Given the description of an element on the screen output the (x, y) to click on. 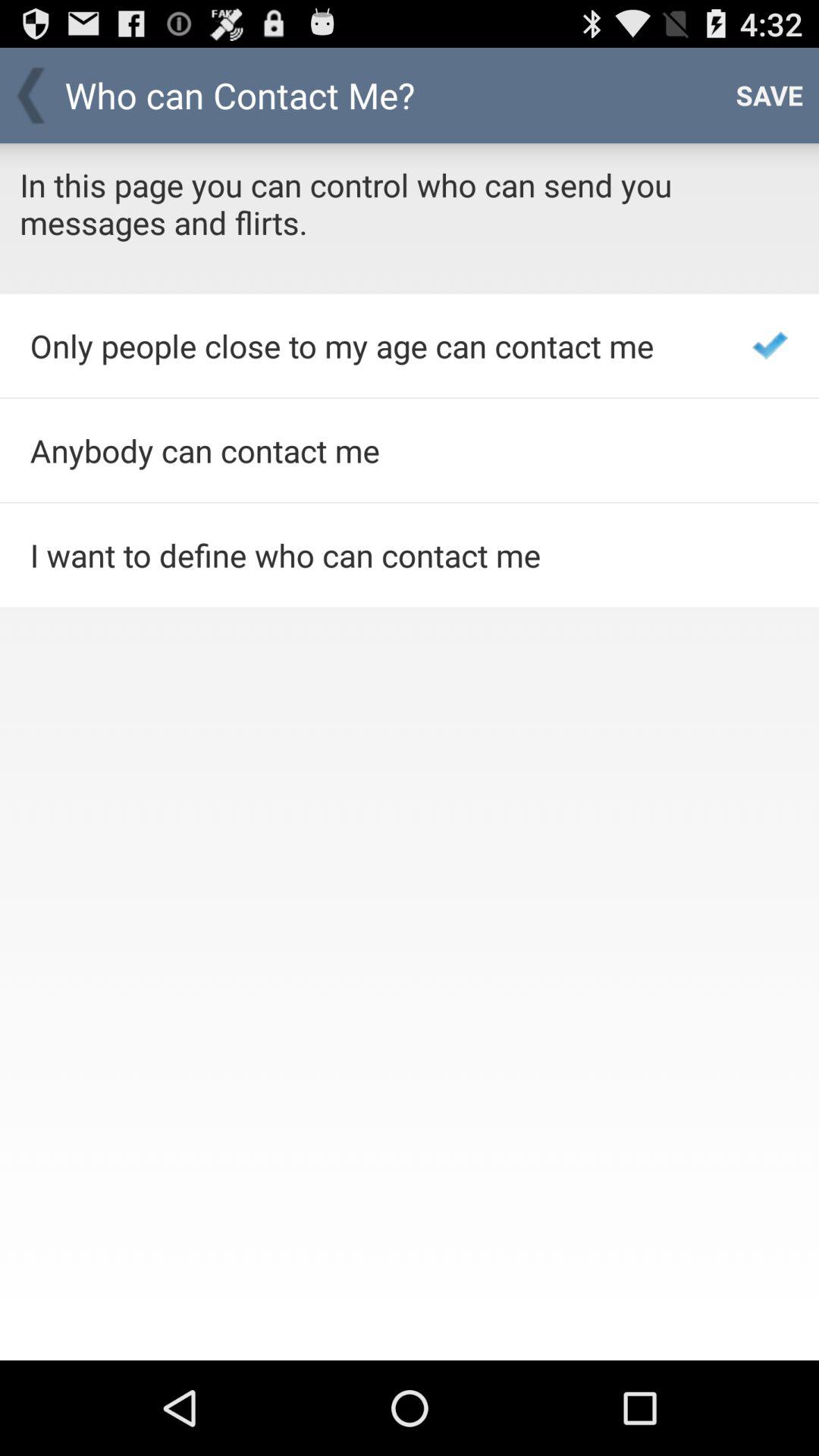
turn on item above in this page item (769, 95)
